Given the description of an element on the screen output the (x, y) to click on. 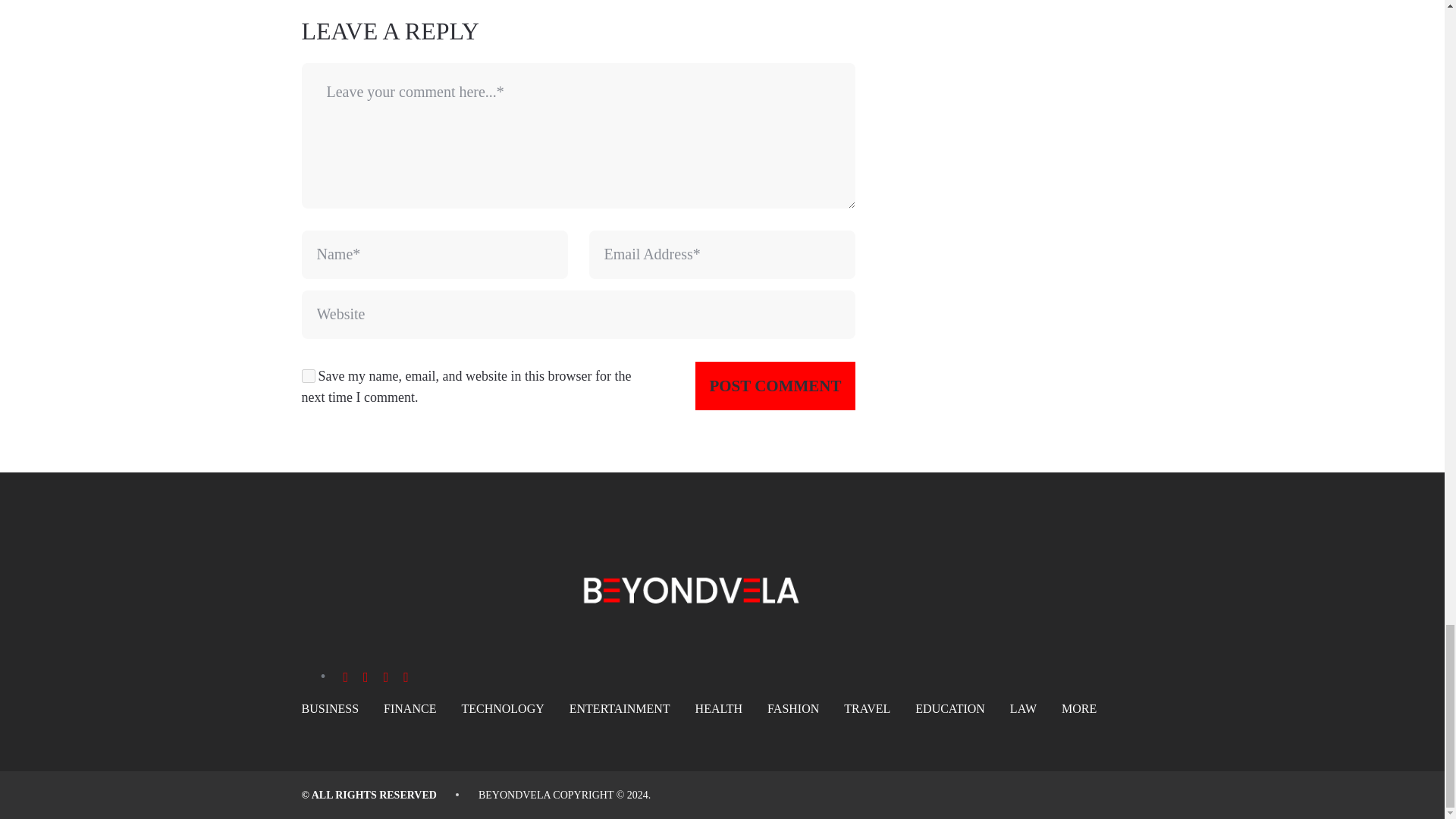
 Top Magazine 2020 (514, 794)
Post Comment (774, 385)
yes (308, 376)
